Given the description of an element on the screen output the (x, y) to click on. 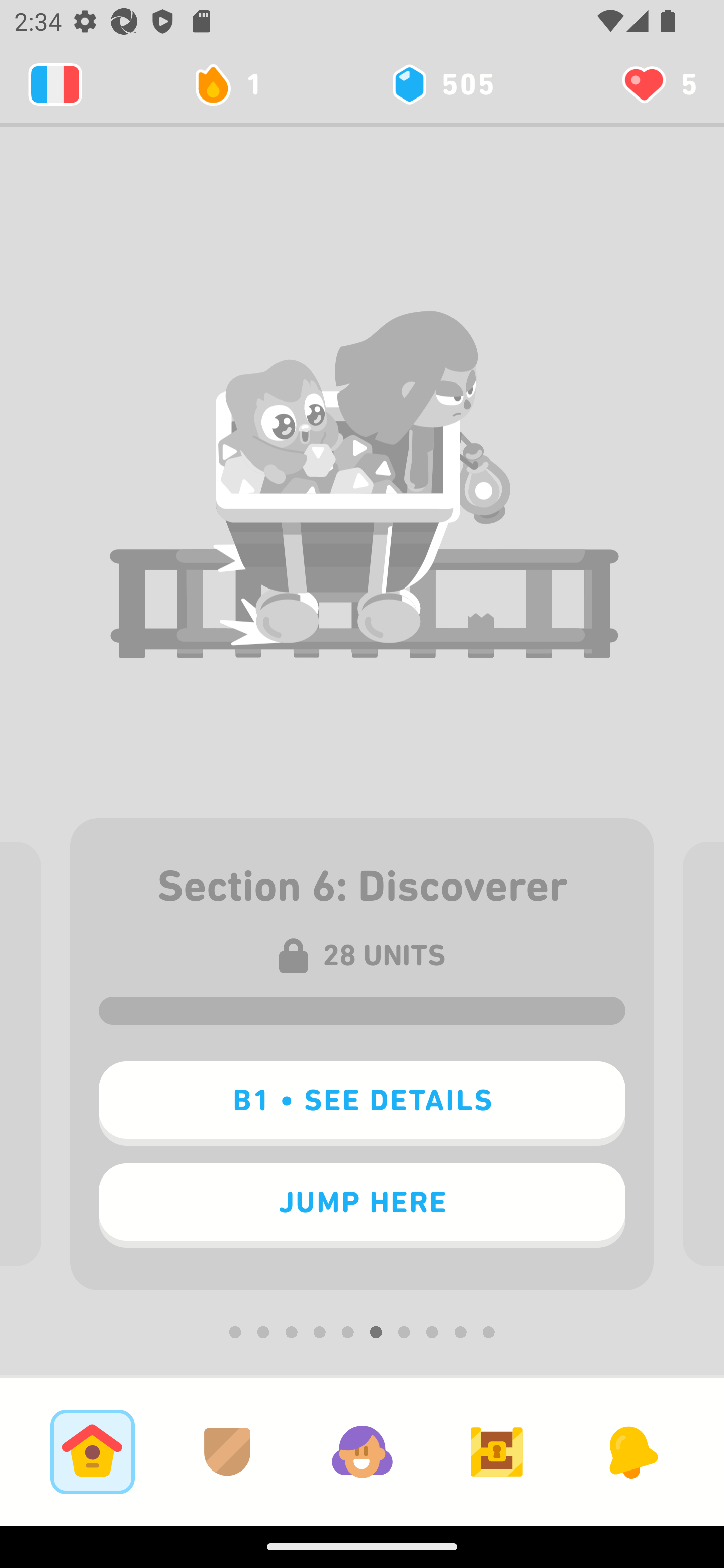
Learning 2131888976 (55, 84)
1 day streak 1 (236, 84)
505 (441, 84)
You have 5 hearts left 5 (657, 84)
B1 • SEE DETAILS (361, 1103)
JUMP HERE (361, 1205)
Learn Tab (91, 1451)
Leagues Tab (227, 1451)
Profile Tab (361, 1451)
Goals Tab (496, 1451)
News Tab (631, 1451)
